Given the description of an element on the screen output the (x, y) to click on. 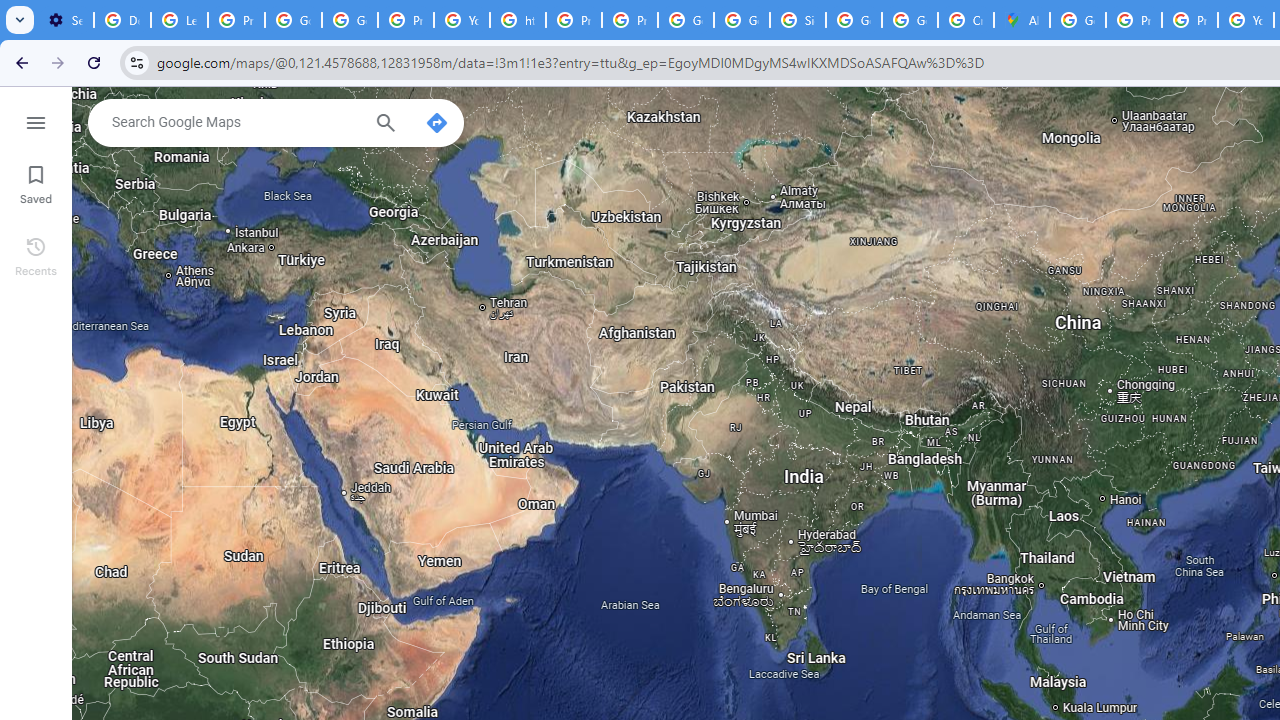
Privacy Help Center - Policies Help (1190, 20)
Directions (436, 122)
Delete photos & videos - Computer - Google Photos Help (122, 20)
Sign in - Google Accounts (797, 20)
